Given the description of an element on the screen output the (x, y) to click on. 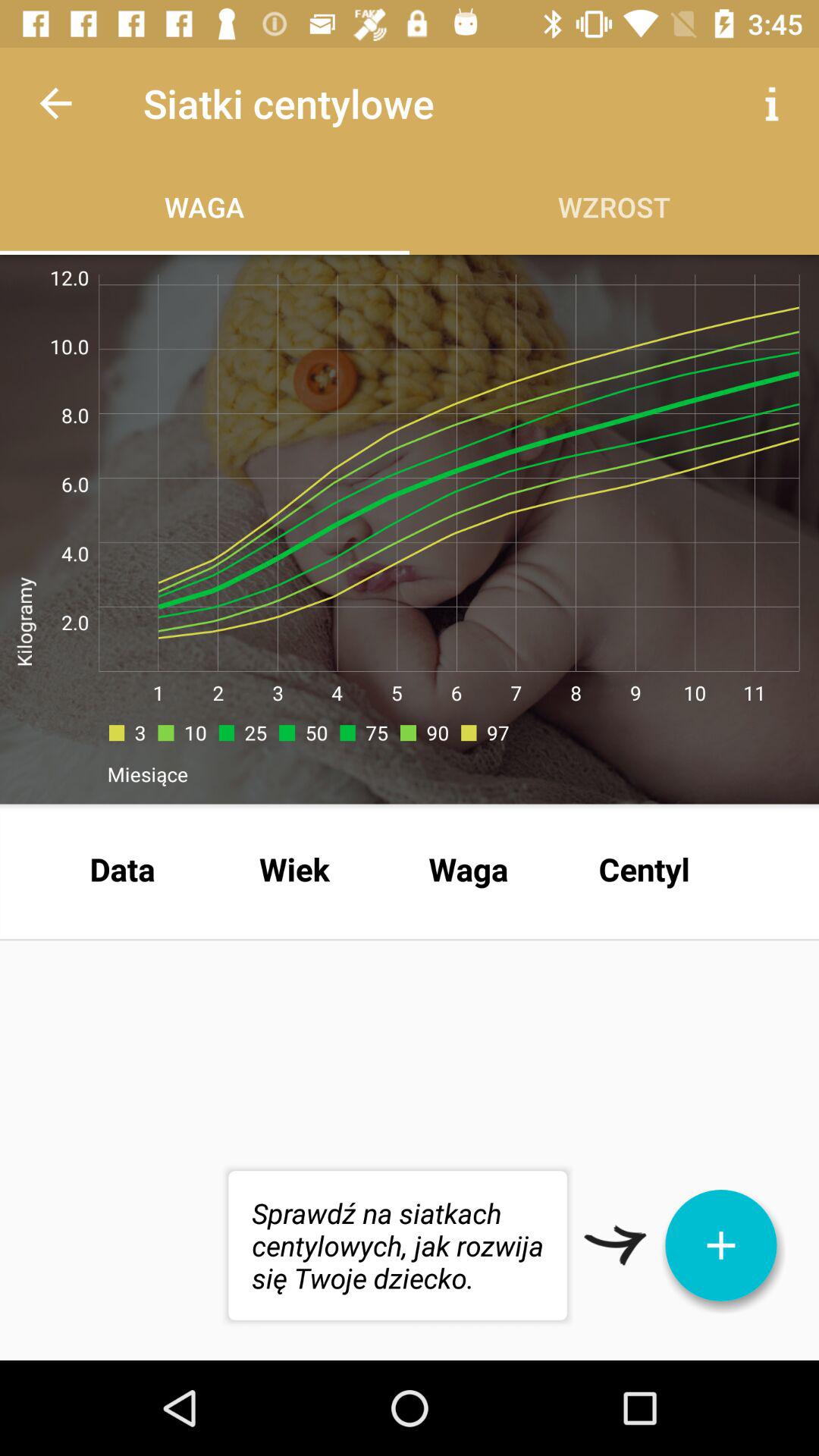
open the app next to the siatki centylowe (55, 103)
